Given the description of an element on the screen output the (x, y) to click on. 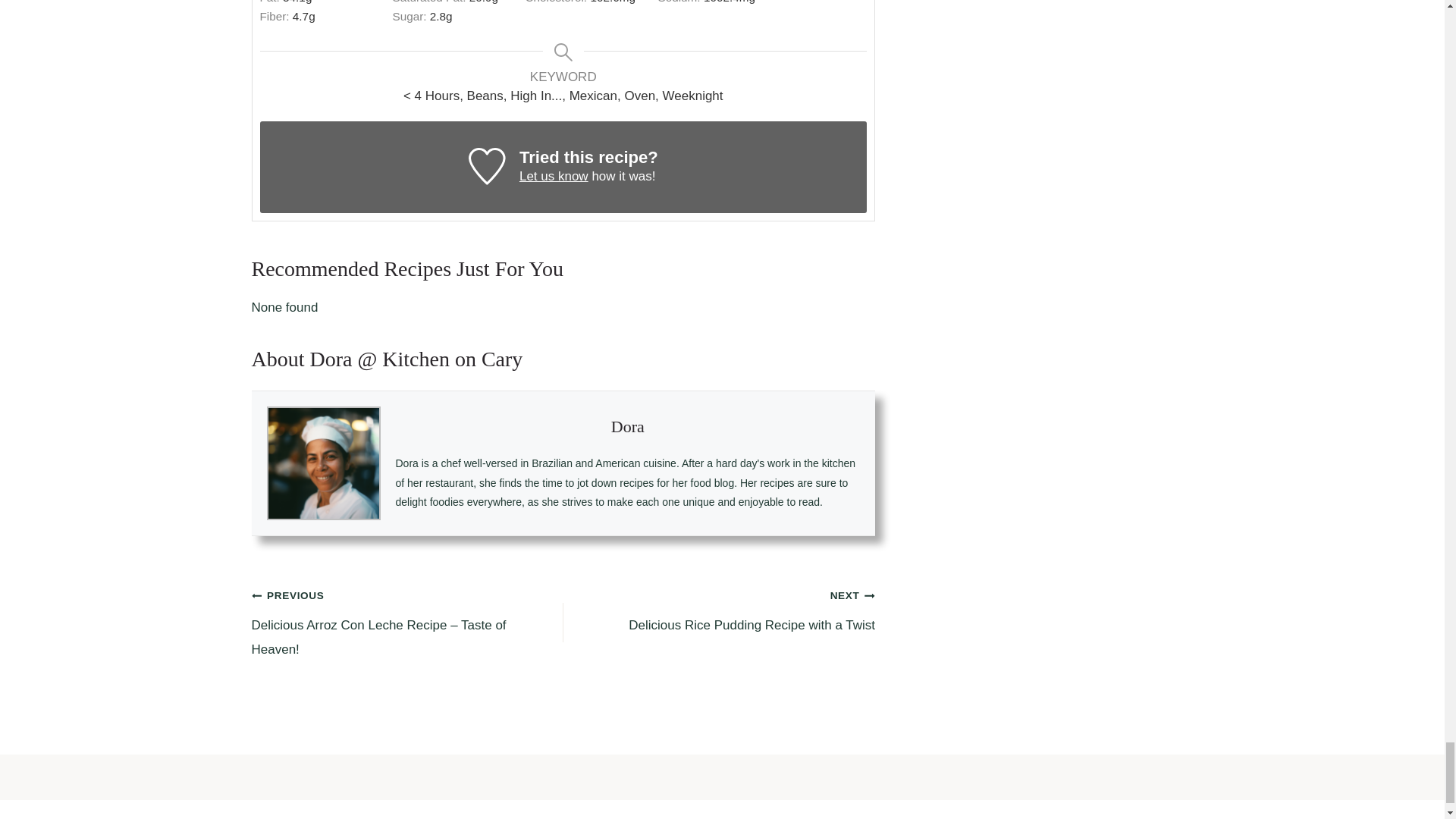
Let us know (553, 175)
